Given the description of an element on the screen output the (x, y) to click on. 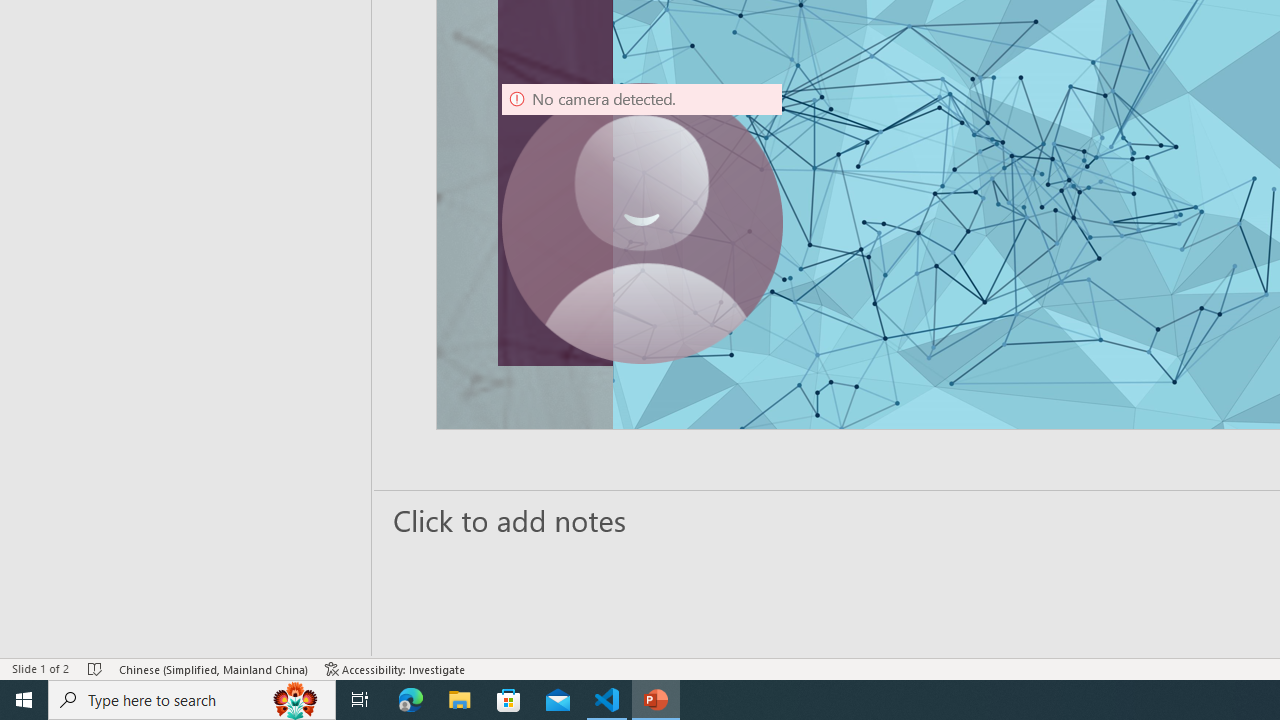
Ports - 26 forwarded ports (1165, 218)
Terminal (Ctrl+`) (1021, 218)
